Given the description of an element on the screen output the (x, y) to click on. 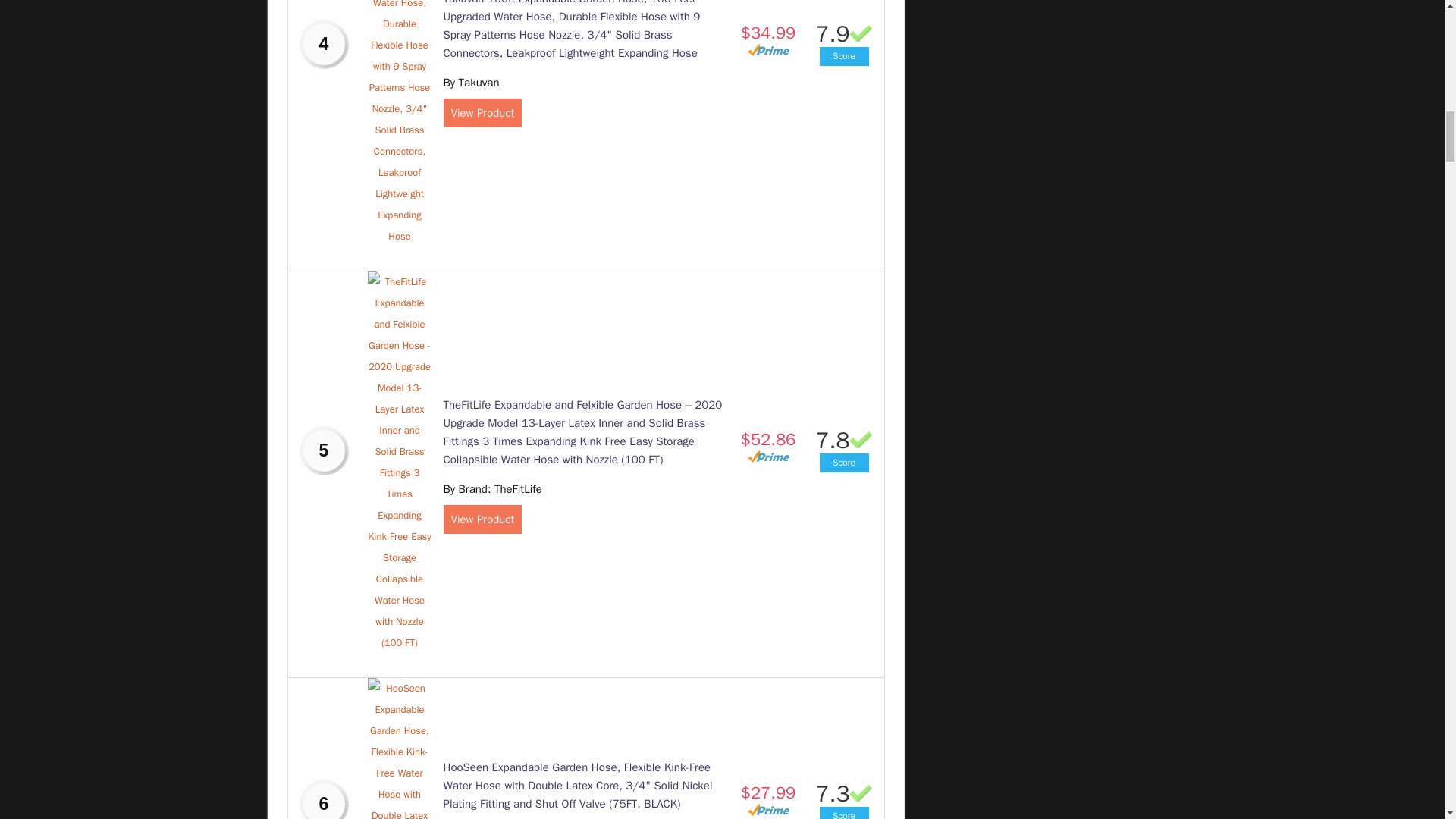
By Brand: TheFitLife (491, 489)
By Takuvan (470, 82)
View Product (481, 519)
View Product (481, 112)
